Given the description of an element on the screen output the (x, y) to click on. 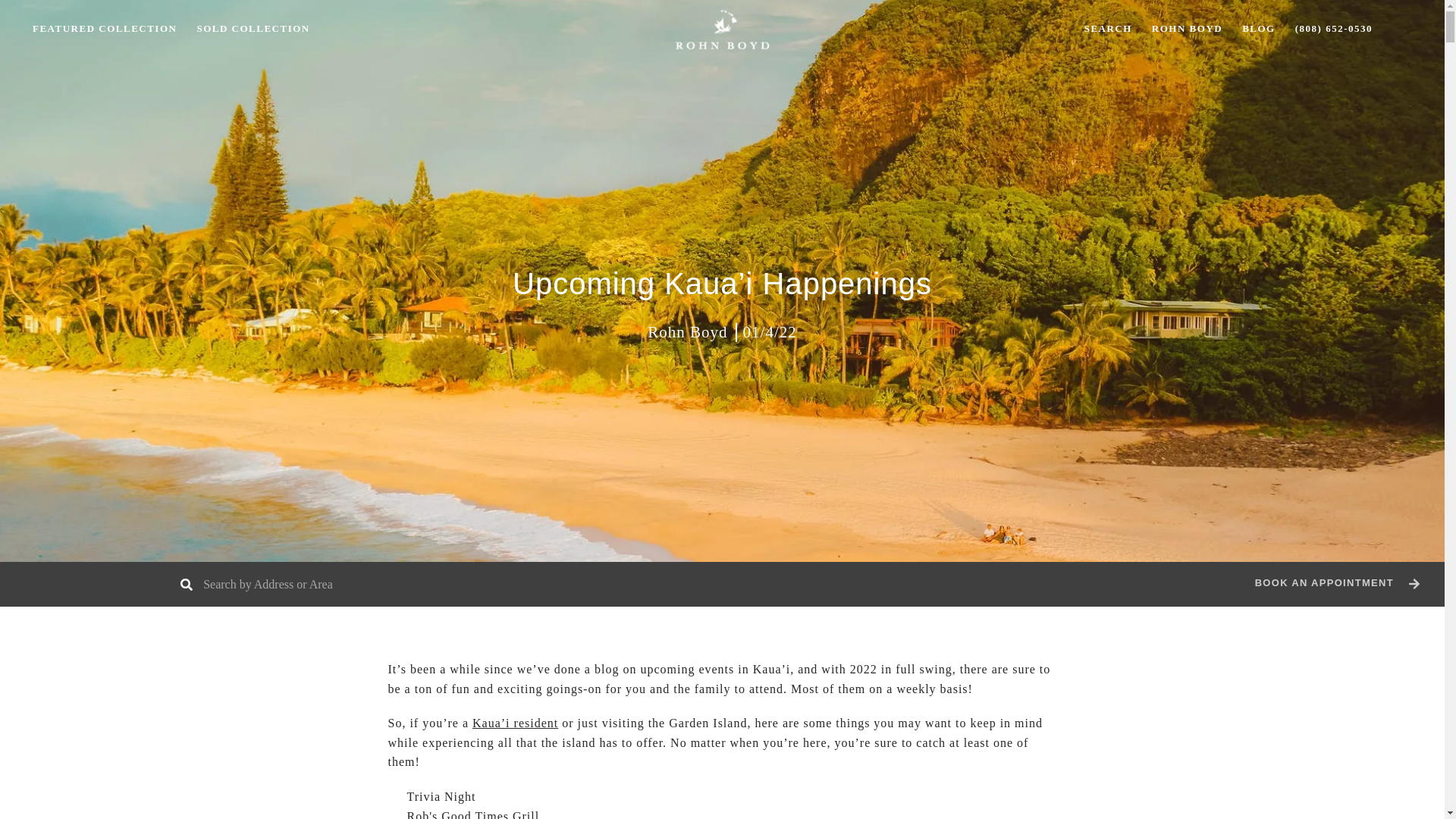
ROHN BOYD (1186, 51)
BLOG (1258, 46)
SEARCH (1107, 55)
FEATURED COLLECTION (104, 69)
SOLD COLLECTION (252, 66)
